Given the description of an element on the screen output the (x, y) to click on. 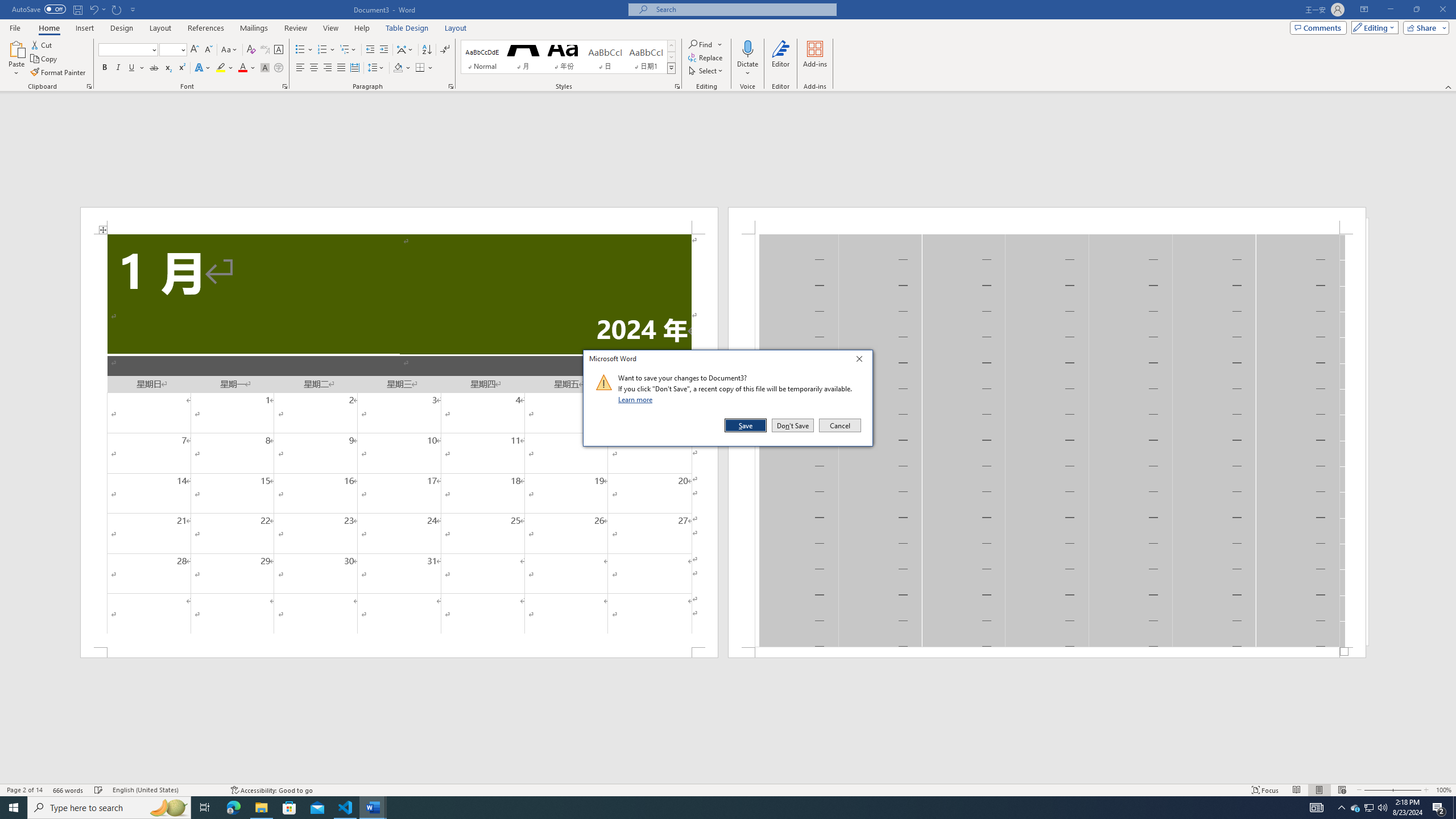
Row up (670, 45)
Decrease Indent (370, 49)
Grow Font (193, 49)
Text Effects and Typography (202, 67)
Distributed (354, 67)
Print Layout (1318, 790)
Replace... (705, 56)
Page Number Page 2 of 14 (24, 790)
Font Size (169, 49)
User Promoted Notification Area (1368, 807)
Home (48, 28)
Font Color (246, 67)
Align Left (300, 67)
